Given the description of an element on the screen output the (x, y) to click on. 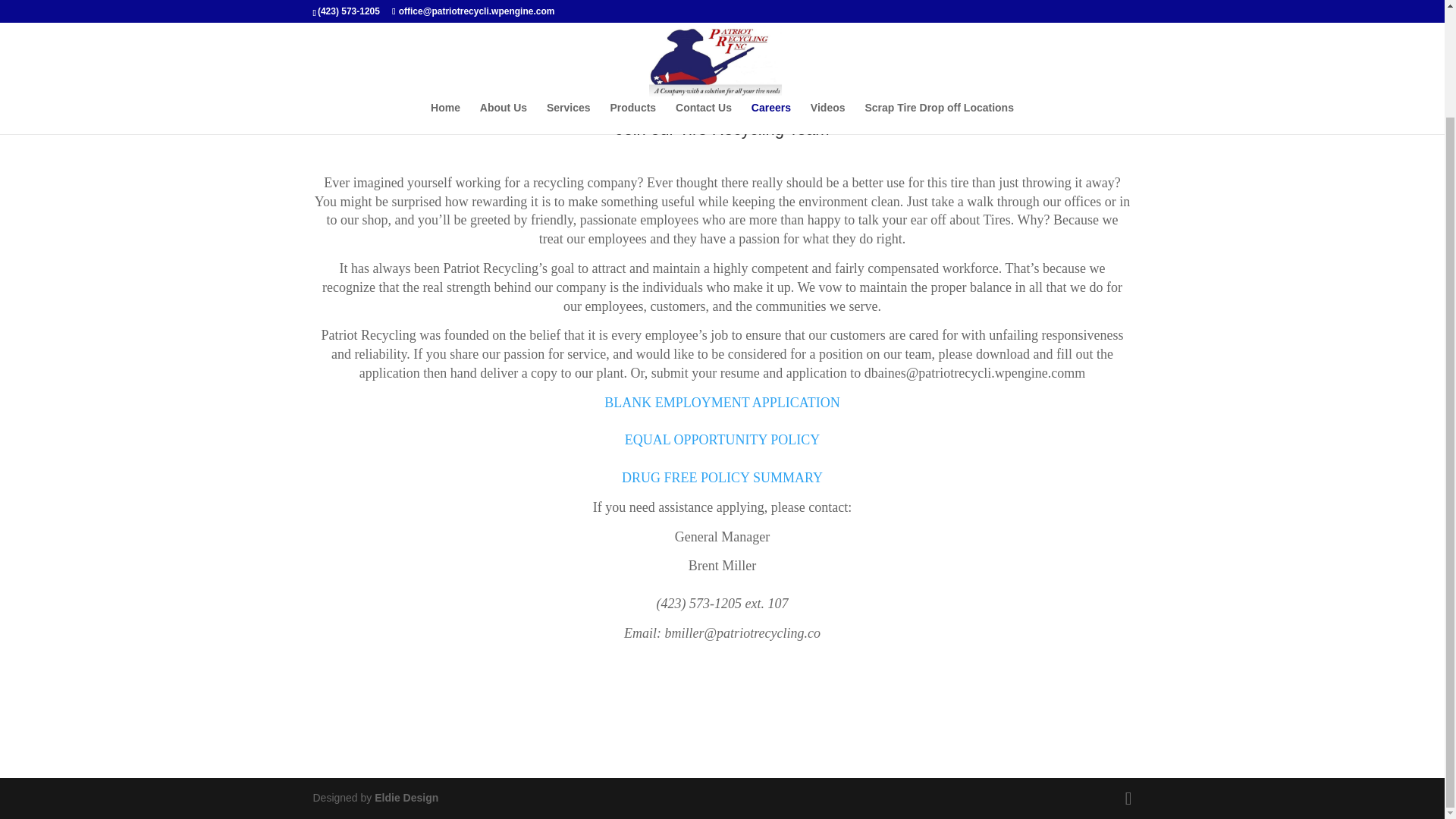
DRUG FREE POLICY SUMMARY (721, 477)
Videos (827, 4)
Careers (770, 4)
Services (569, 4)
Home (445, 4)
Eldie Design (406, 797)
About Us (503, 4)
EQUAL OPPORTUNITY POLICY (722, 439)
Contact Us (703, 4)
Products (633, 4)
